Given the description of an element on the screen output the (x, y) to click on. 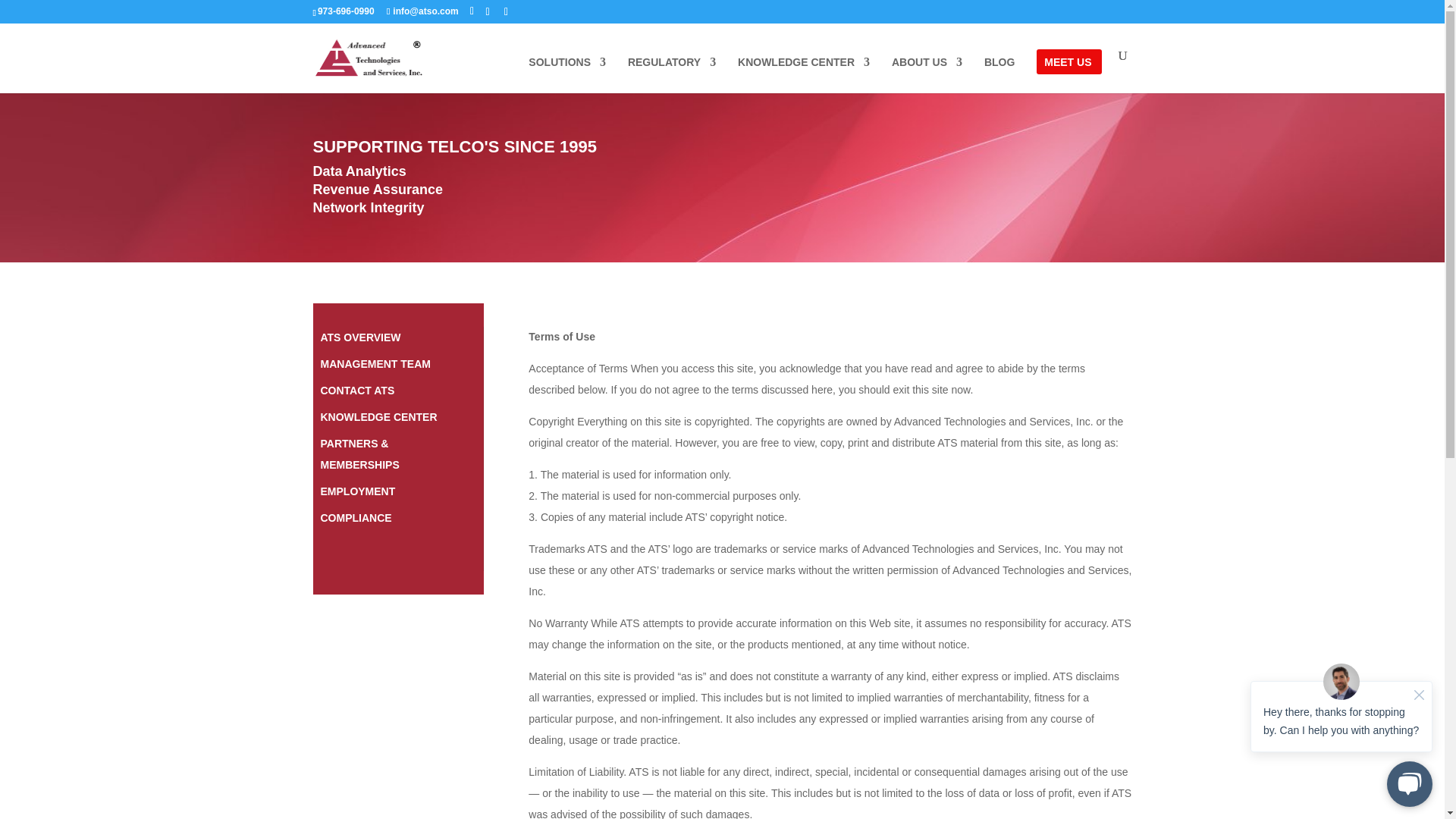
KNOWLEDGE CENTER (803, 74)
REGULATORY (671, 74)
MEET US (1066, 74)
SOLUTIONS (566, 74)
ABOUT US (926, 74)
